Given the description of an element on the screen output the (x, y) to click on. 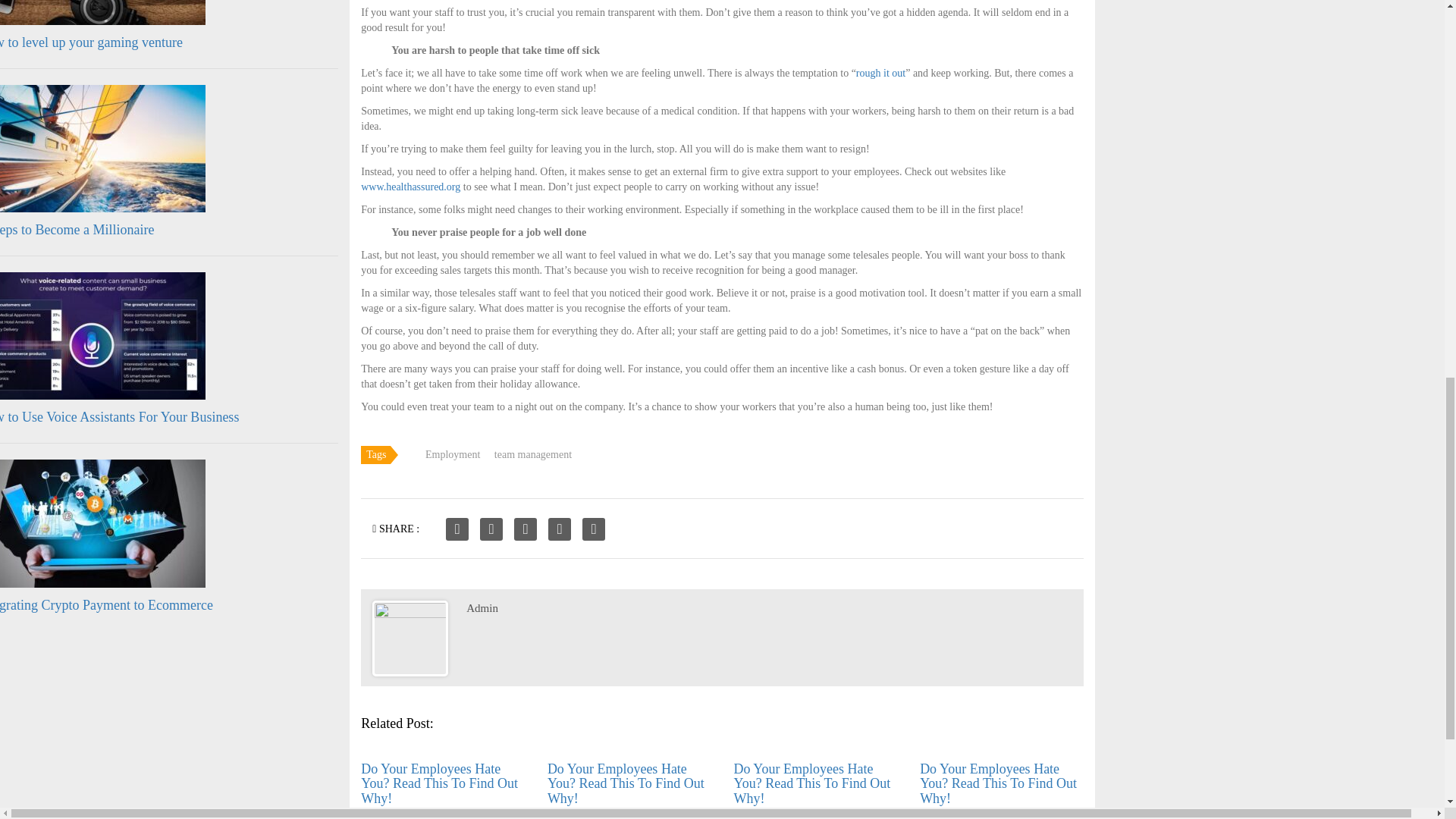
7 Steps to Become a Millionaire (77, 229)
Integrating Crypto Payment to Ecommerce (106, 604)
How to level up your gaming venture (91, 42)
How to Use Voice Assistants For Your Business (119, 417)
Posts by Admin (481, 607)
Share on Facebook (456, 528)
